Given the description of an element on the screen output the (x, y) to click on. 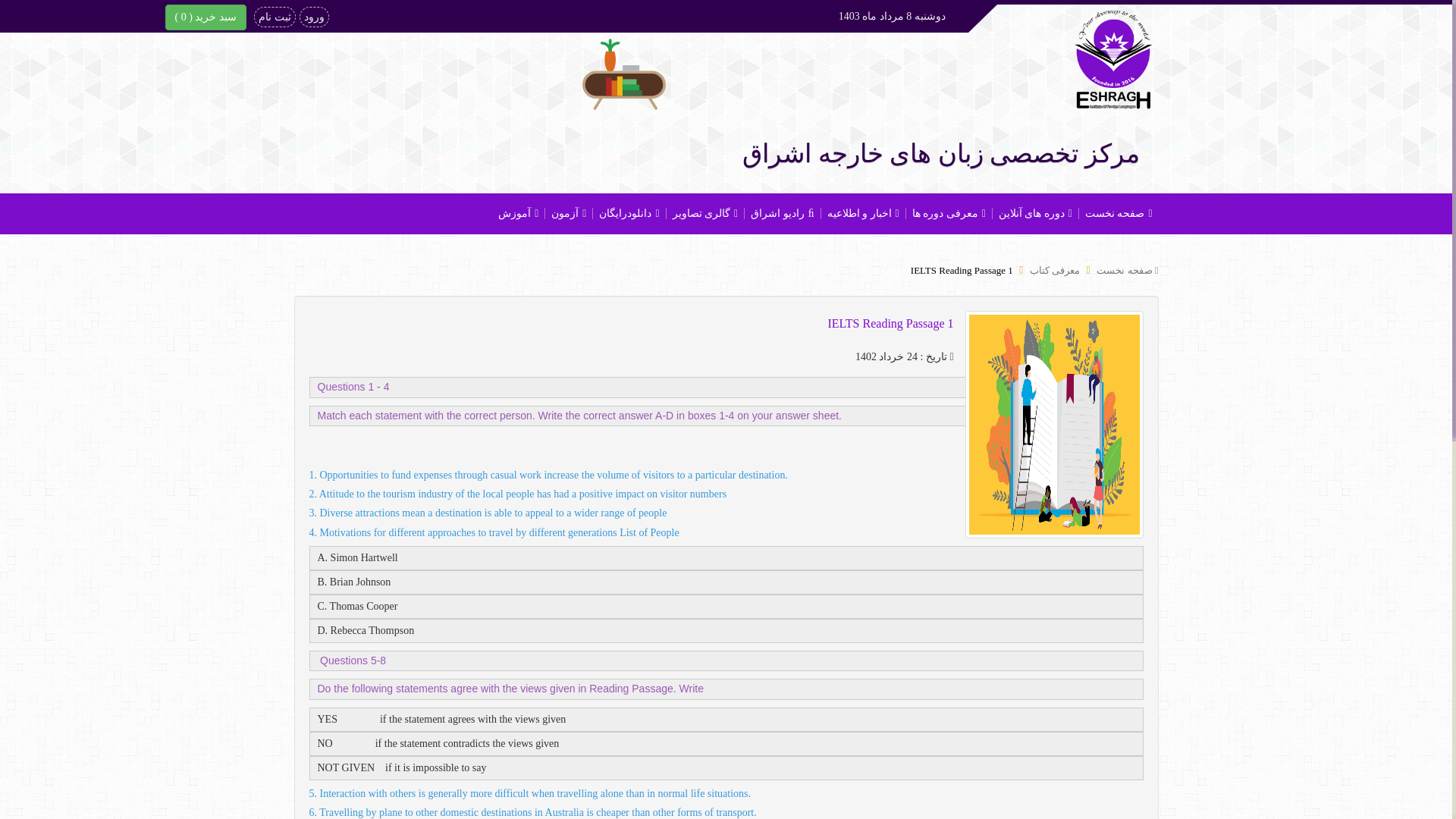
IELTS Reading Passage 1 (962, 270)
IELTS-Reading-Passage-1 (962, 270)
